Given the description of an element on the screen output the (x, y) to click on. 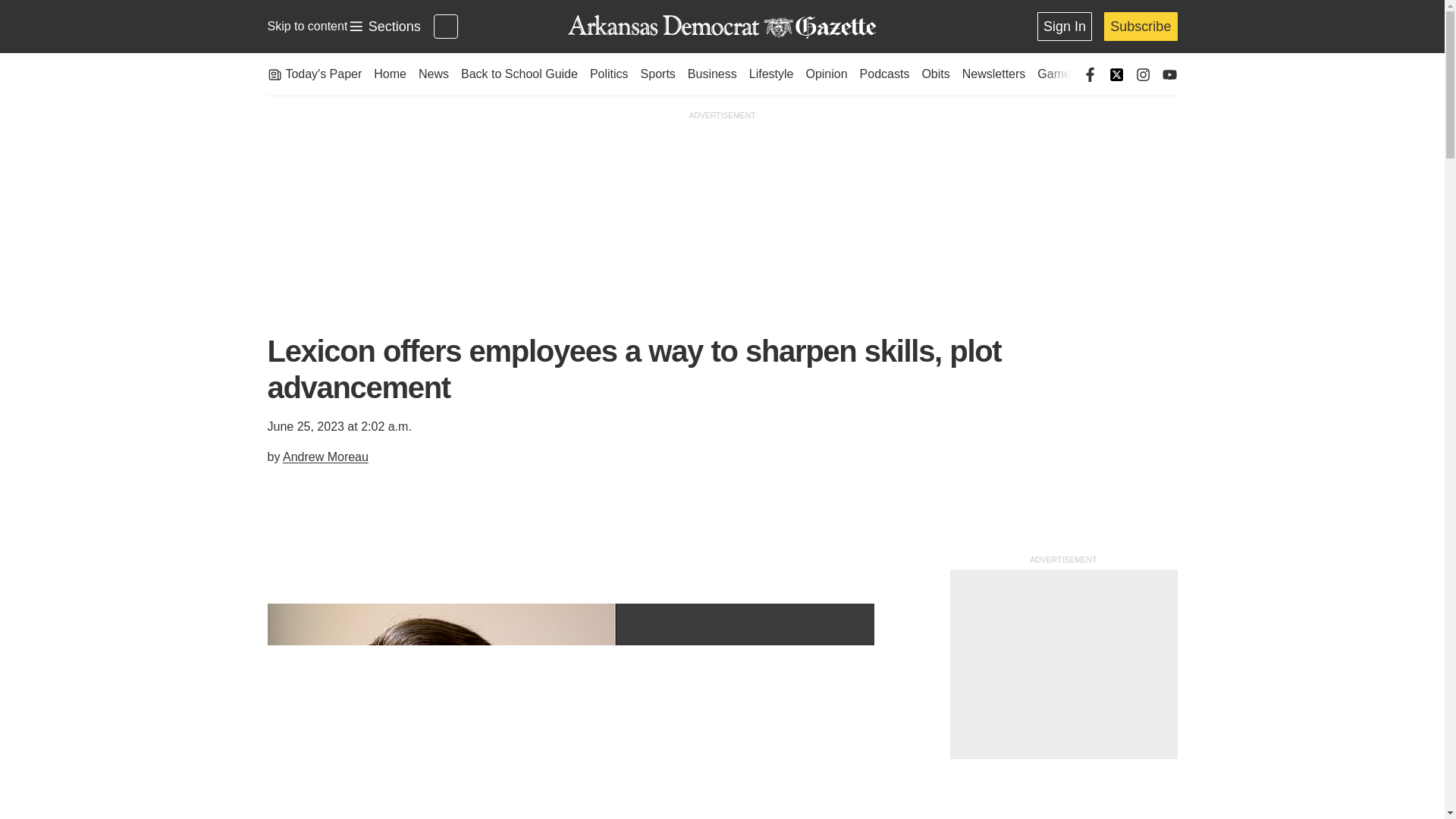
Arkansas Democrat Gazette (721, 26)
Skip to content (306, 26)
